Given the description of an element on the screen output the (x, y) to click on. 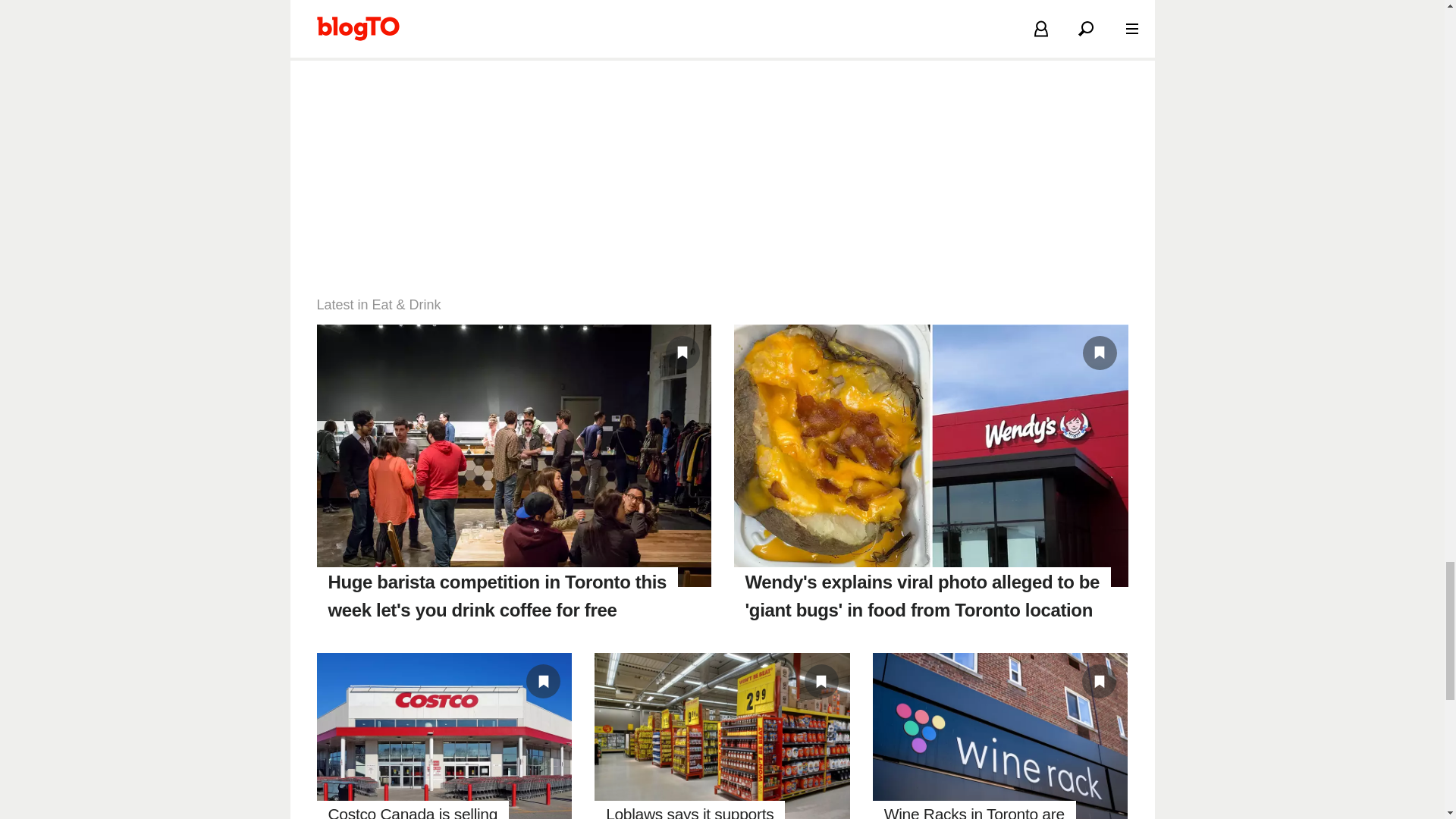
Subscribe (769, 4)
